Given the description of an element on the screen output the (x, y) to click on. 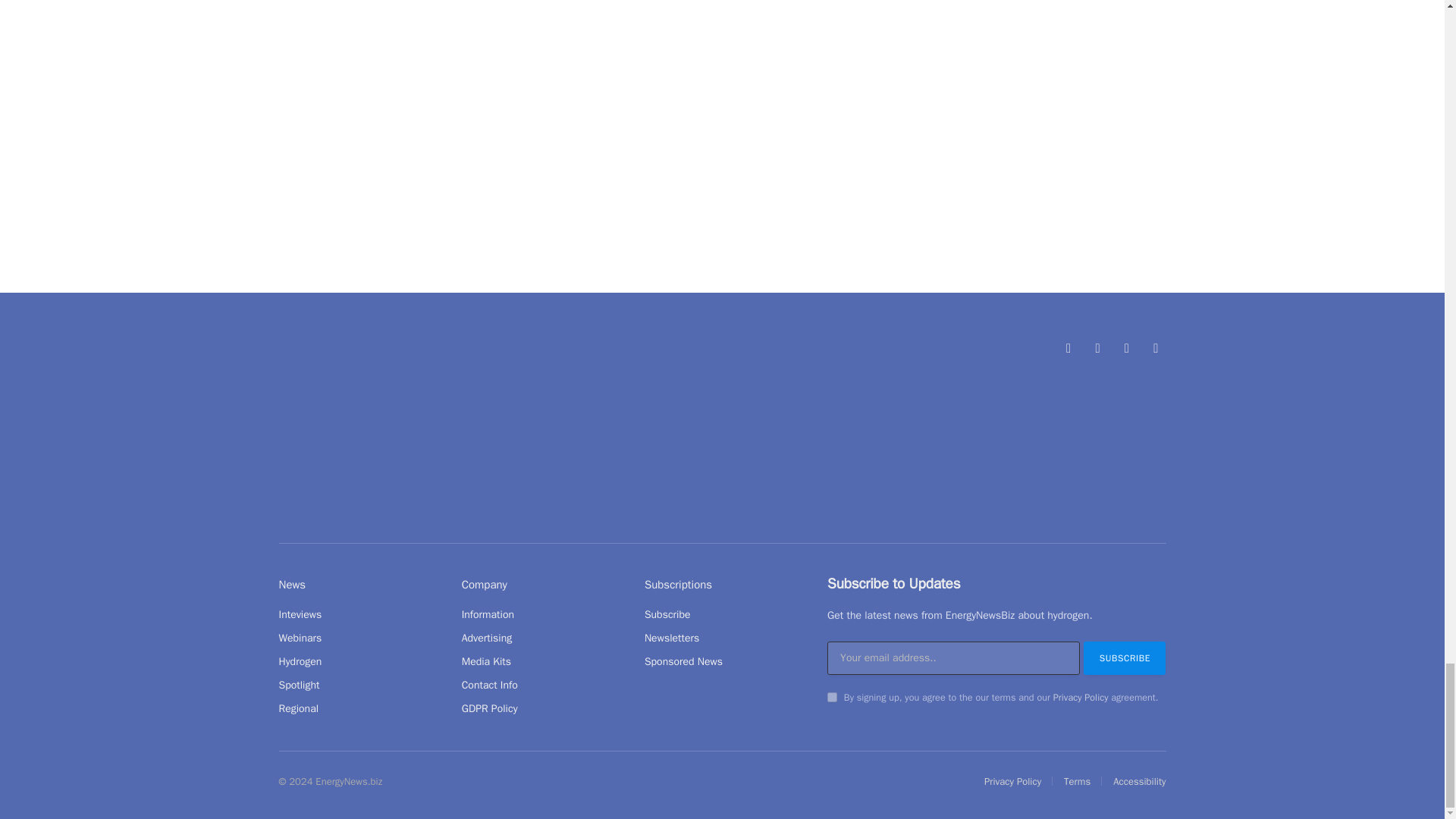
Subscribe (1124, 657)
on (832, 696)
